Given the description of an element on the screen output the (x, y) to click on. 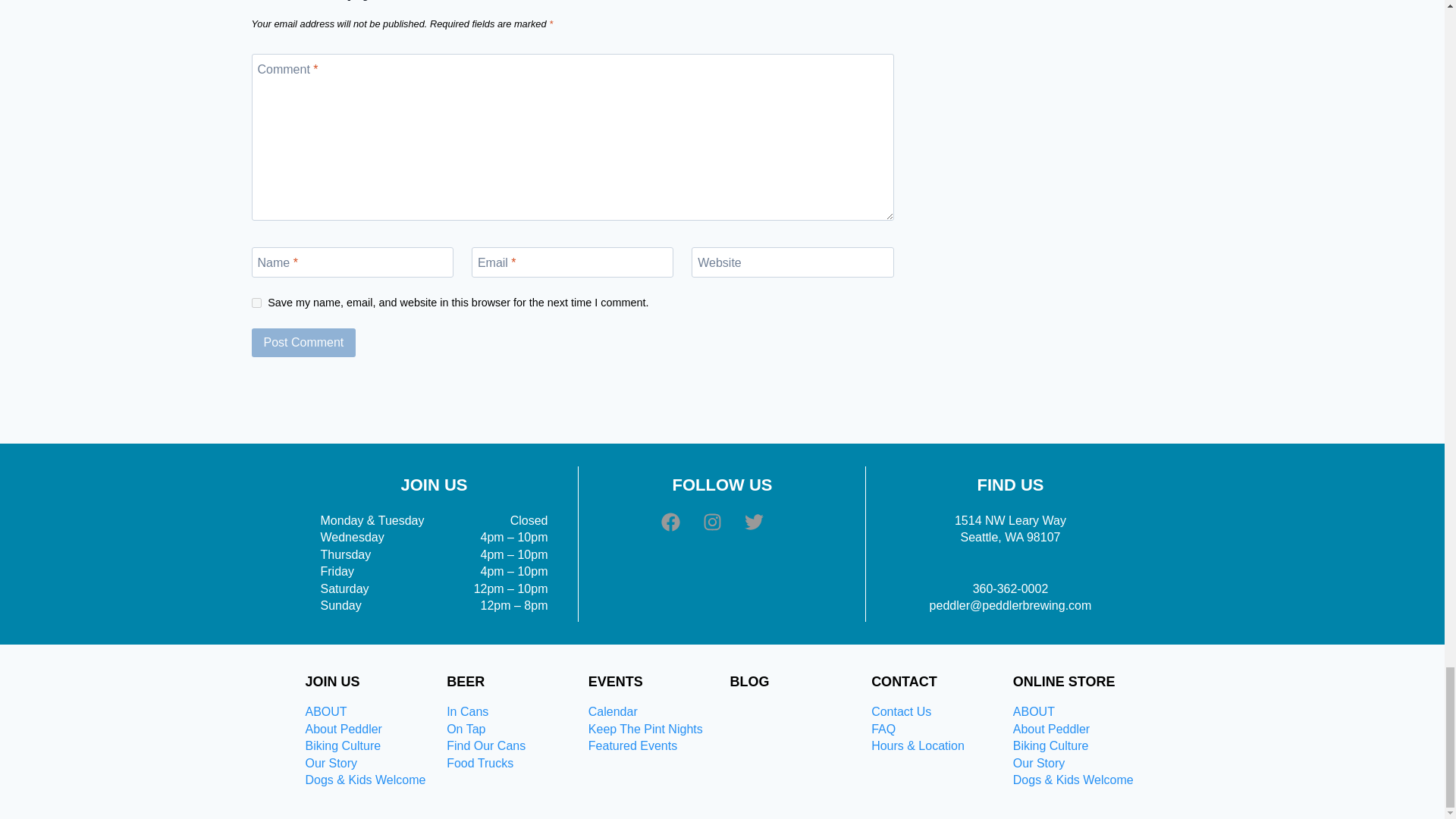
Post Comment (303, 342)
yes (256, 302)
